Given the description of an element on the screen output the (x, y) to click on. 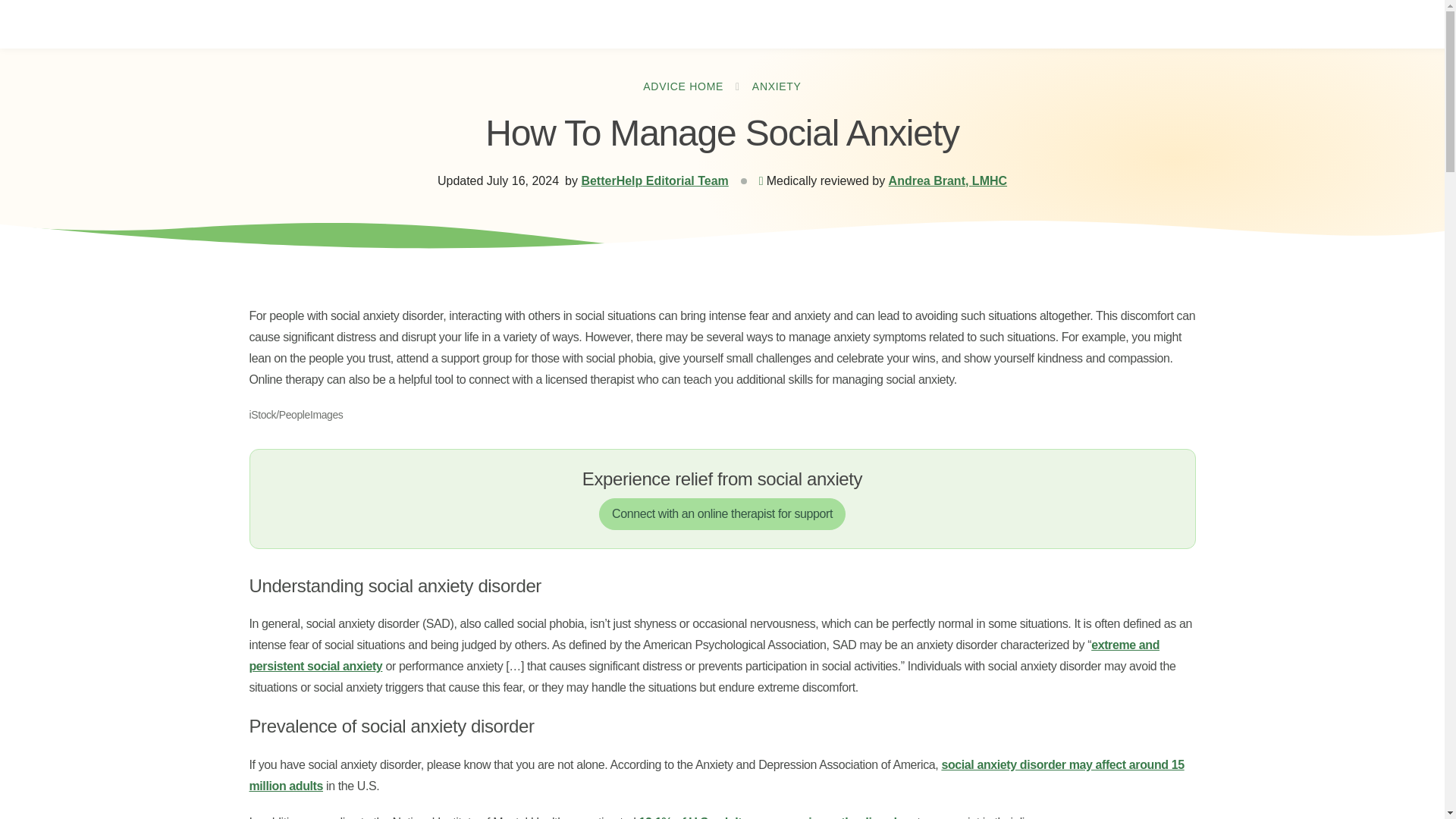
Andrea Brant, LMHC (947, 180)
social anxiety disorder may affect around 15 million adults (715, 775)
Connect with an online therapist for support (721, 513)
BetterHelp Editorial Team (654, 180)
extreme and persistent social anxiety (703, 655)
ANXIETY (777, 86)
ADVICE HOME (683, 86)
